Given the description of an element on the screen output the (x, y) to click on. 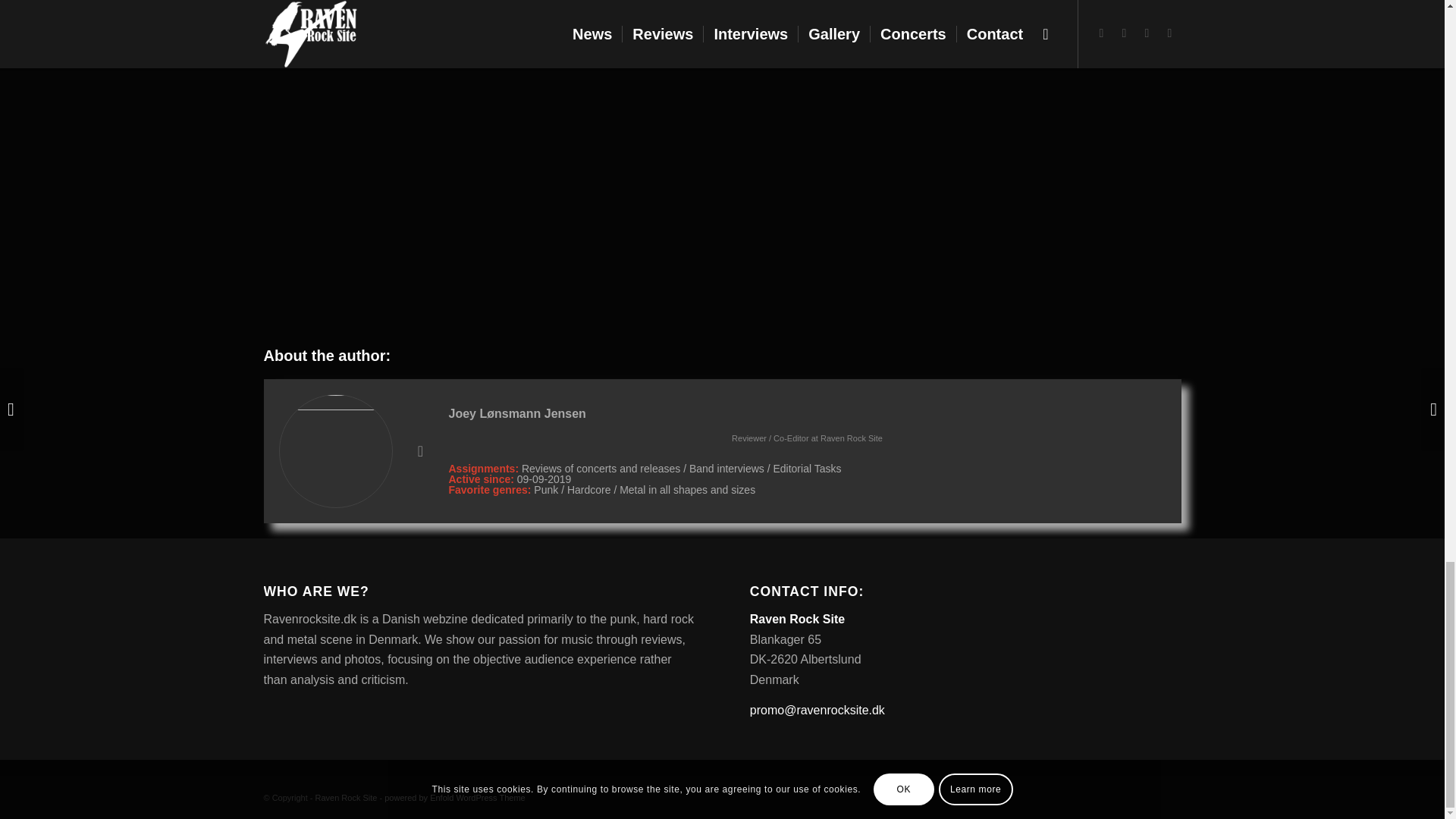
Raven Rock Site (346, 797)
Raven Rock Site (851, 438)
powered by Enfold WordPress Theme (454, 797)
